Given the description of an element on the screen output the (x, y) to click on. 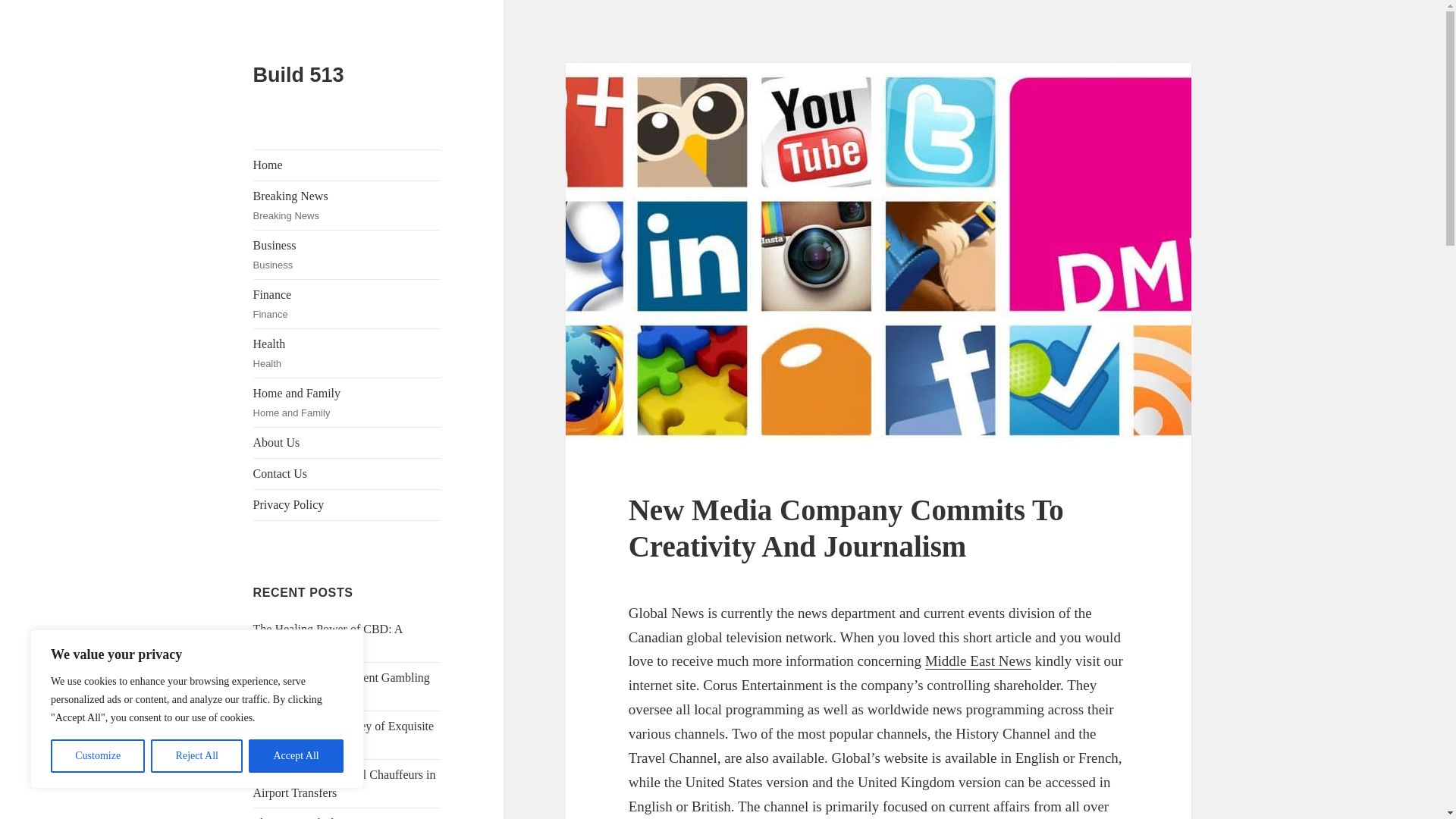
Contact Us (347, 473)
Accept All (295, 756)
Build 513 (347, 353)
The Art of Professional Chauffeurs in Airport Transfers (298, 74)
Privacy Policy (344, 783)
Reject All (347, 504)
Embarking on a Journey of Exquisite Spirits (347, 402)
About Us (197, 756)
The Healing Power of CBD: A Personal Journey (347, 205)
How to Spot a Fraudulent Gambling Site (343, 735)
